Given the description of an element on the screen output the (x, y) to click on. 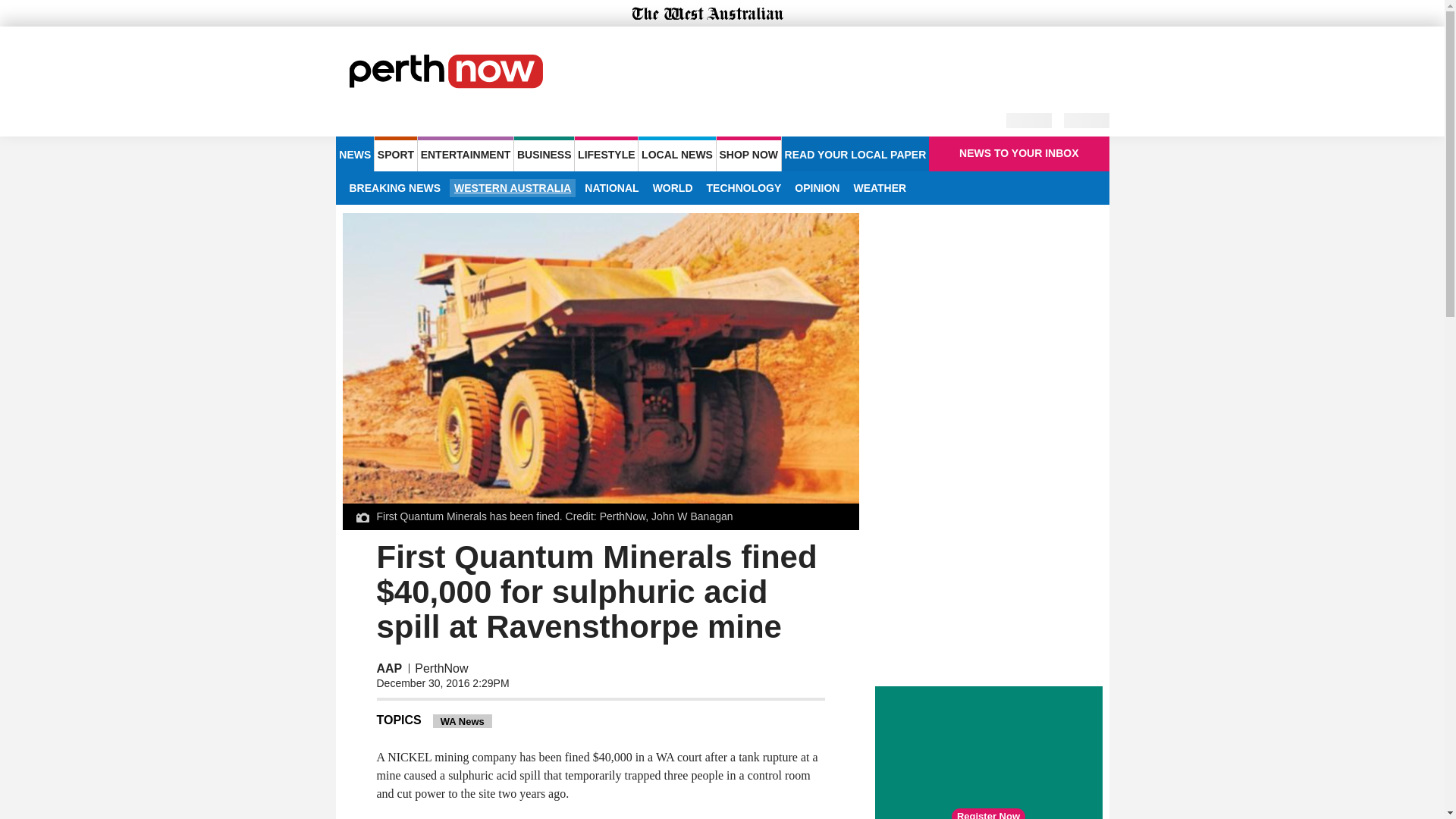
SPORT (395, 153)
BUSINESS (543, 153)
NEWS (354, 153)
ENTERTAINMENT (465, 153)
